Given the description of an element on the screen output the (x, y) to click on. 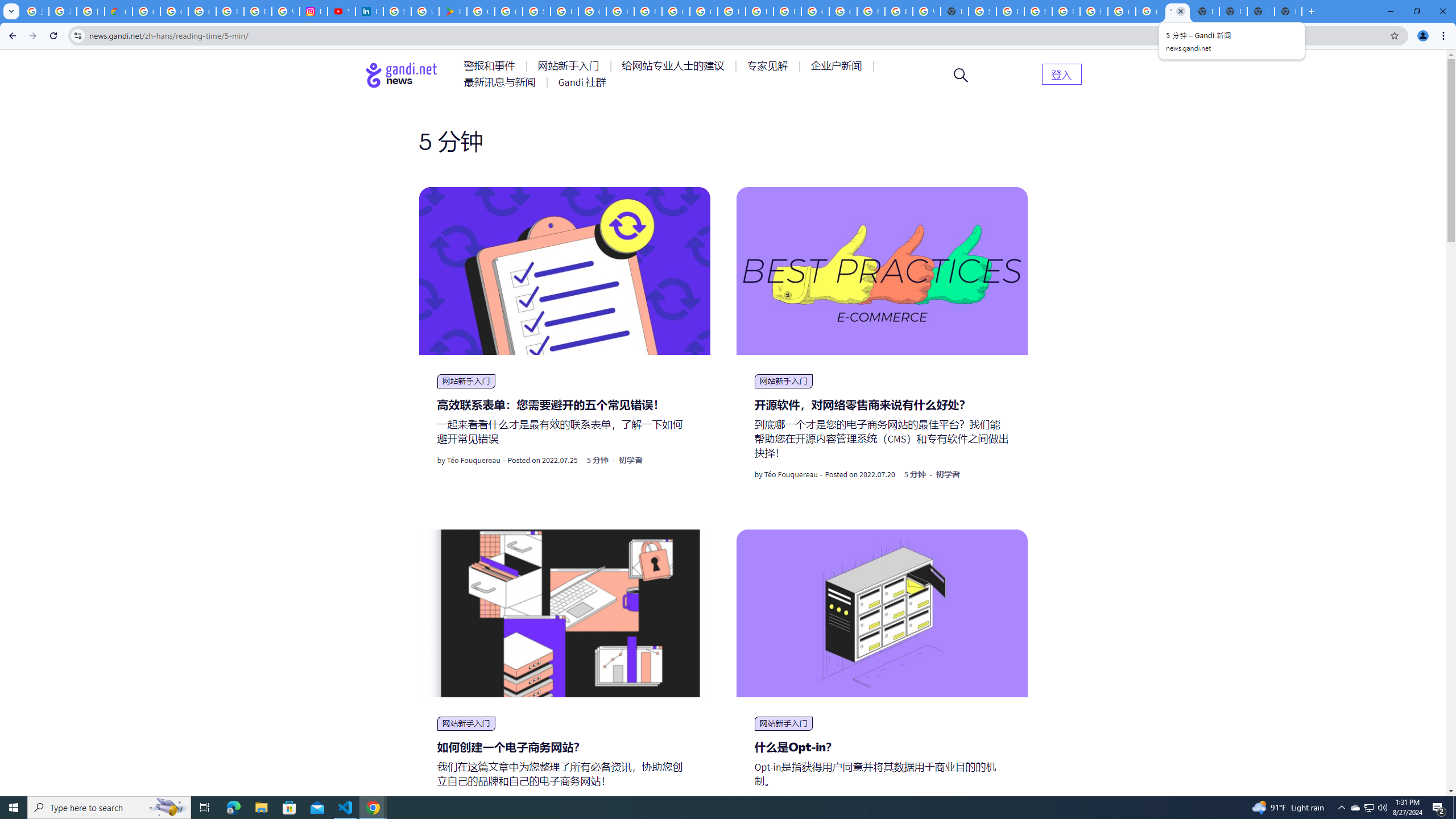
Open search form (960, 74)
Google Workspace - Specific Terms (508, 11)
AutomationID: menu-item-77761 (492, 65)
Google Cloud Platform (842, 11)
Sign in - Google Accounts (982, 11)
AutomationID: menu-item-77766 (502, 82)
